Given the description of an element on the screen output the (x, y) to click on. 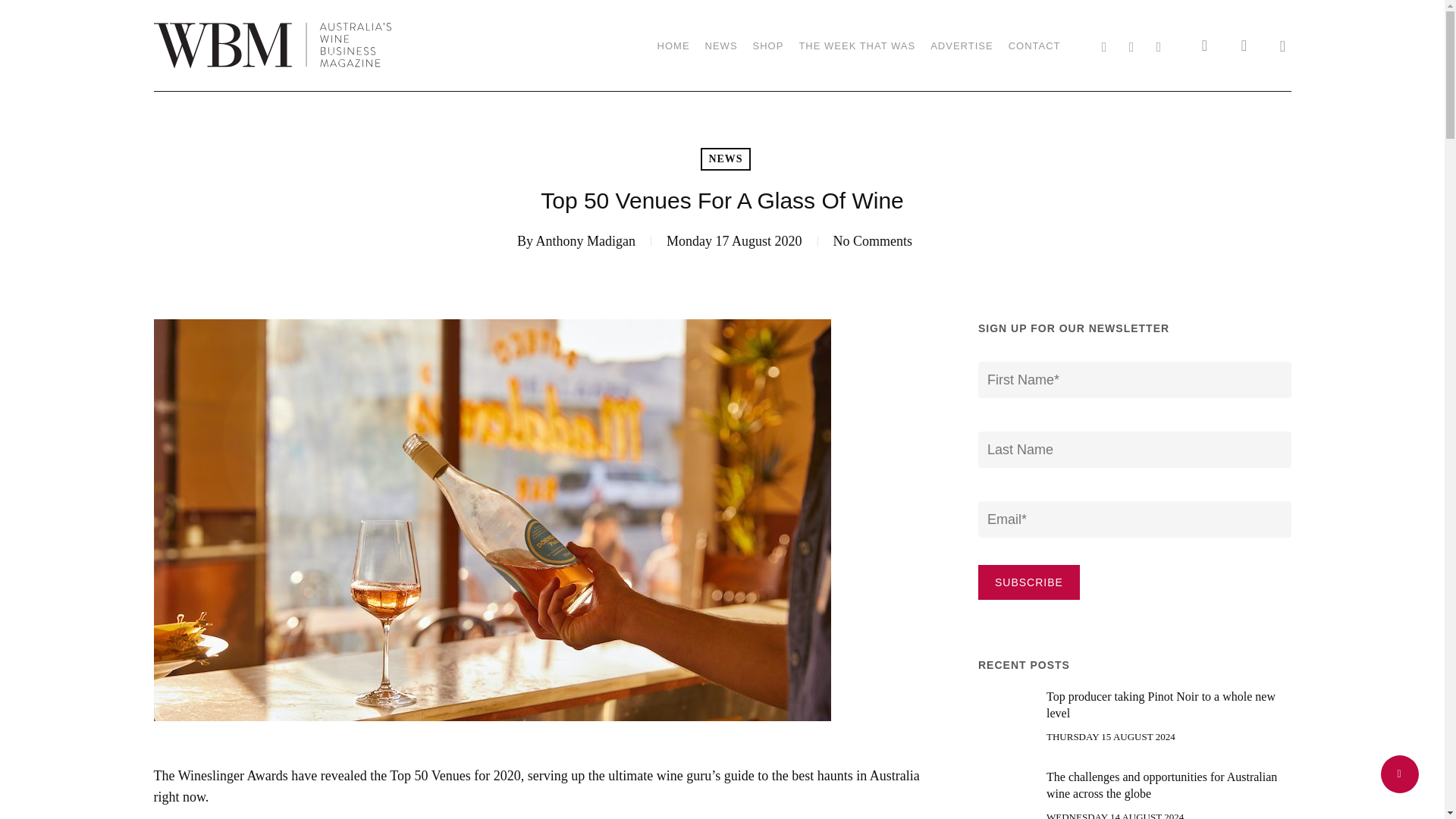
SHOP (768, 45)
HOME (674, 45)
THE WEEK THAT WAS (856, 45)
Subscribe (1029, 582)
Posts by Anthony Madigan (584, 240)
account (1243, 45)
search (1203, 45)
INSTAGRAM (1158, 45)
CONTACT (1035, 45)
Page 1 (542, 791)
